Given the description of an element on the screen output the (x, y) to click on. 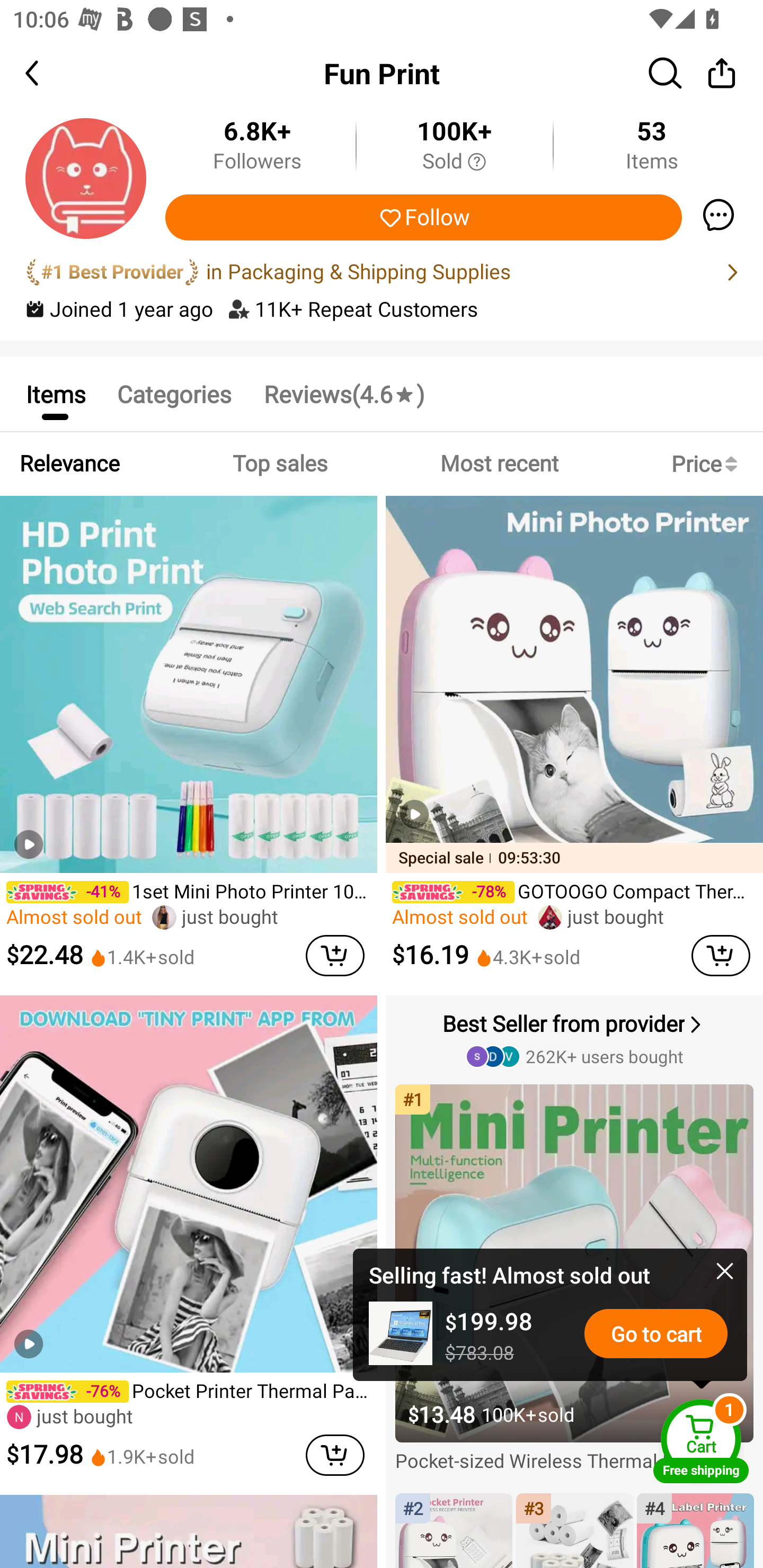
back (47, 72)
share (721, 72)
Sold (453, 161)
#1 Best Provider in Packaging & Shipping Supplies (381, 272)
Items (55, 393)
Categories (174, 393)
Reviews(4.6 ) (343, 393)
Relevance (69, 463)
Top sales (279, 463)
Most recent (498, 463)
Price (707, 463)
cart delete (334, 955)
cart delete (720, 955)
Best Seller from provider 262K+ users bought (576, 1037)
Go to cart (655, 1333)
Cart Free shipping Cart (701, 1440)
cart delete (334, 1454)
#2 (453, 1530)
#3 (574, 1530)
#4 (695, 1530)
